Given the description of an element on the screen output the (x, y) to click on. 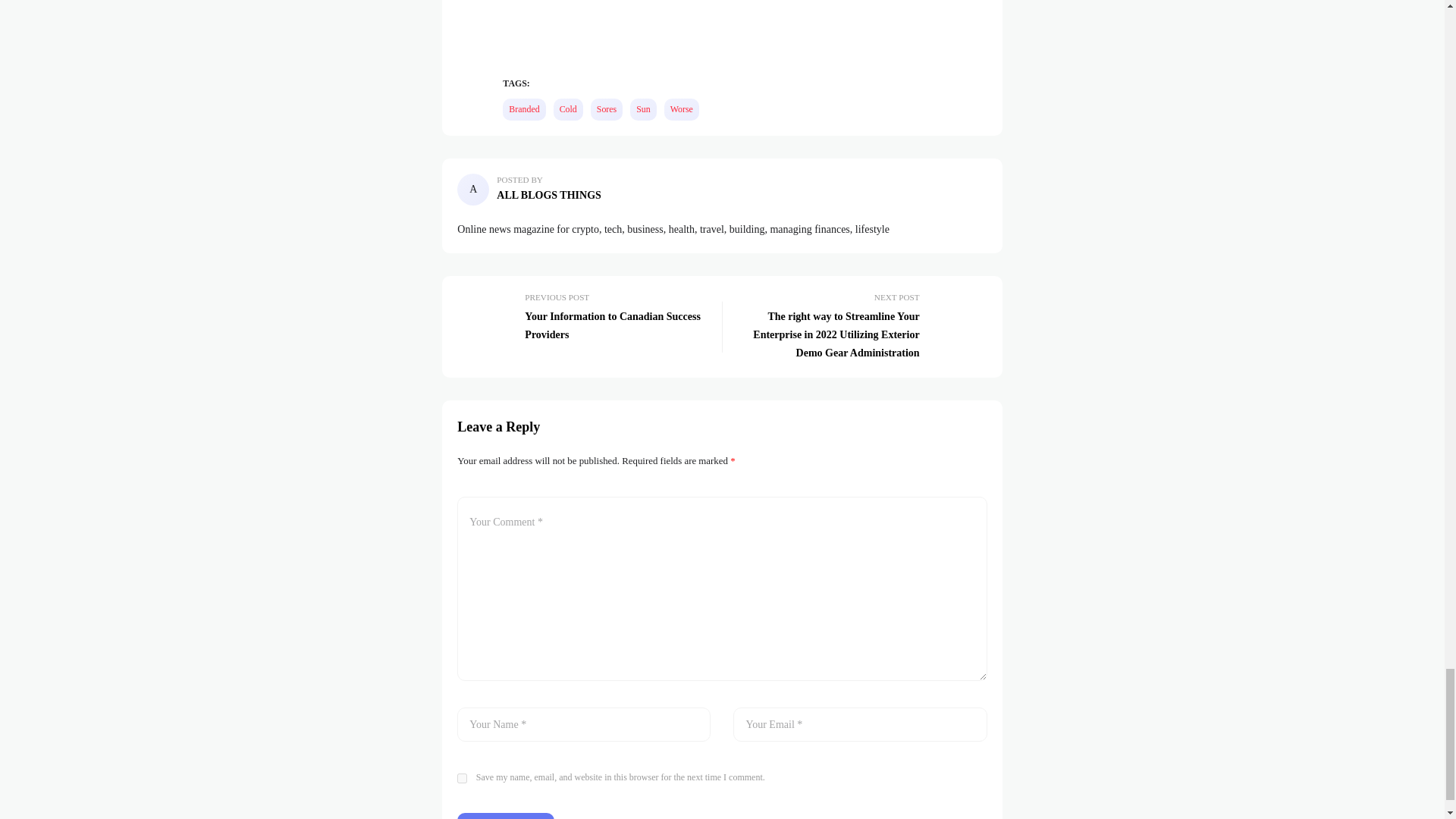
Post Comment (505, 816)
Sun (643, 108)
Branded (523, 108)
yes (462, 777)
Sores (607, 108)
Cold (568, 108)
Worse (680, 108)
